Given the description of an element on the screen output the (x, y) to click on. 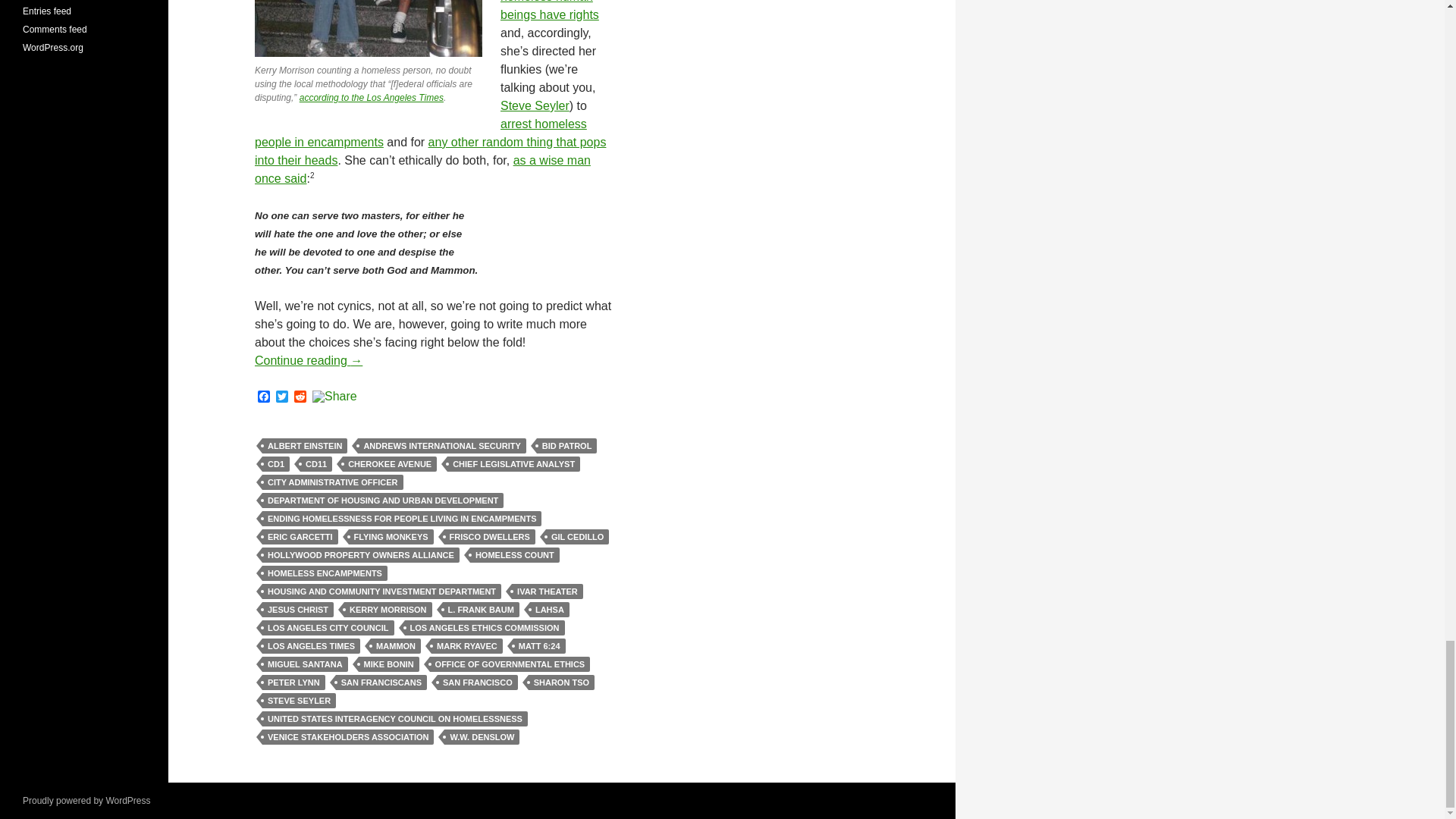
Twitter (282, 397)
Facebook (263, 397)
Reddit (299, 397)
